Given the description of an element on the screen output the (x, y) to click on. 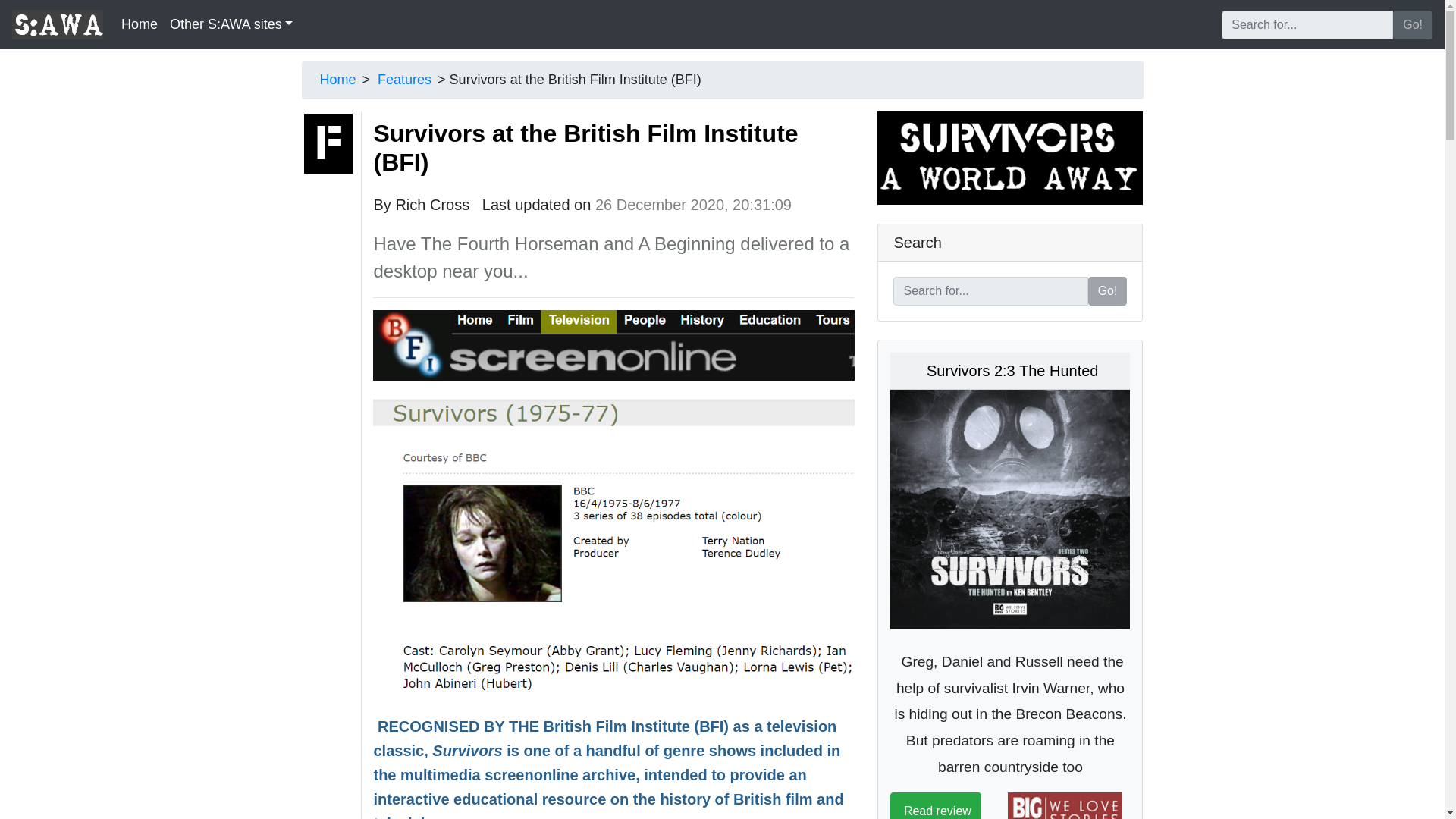
Go! (1412, 24)
Features (403, 79)
Go! (1106, 290)
Other S:AWA sites (230, 24)
Home (338, 79)
 Read review (934, 805)
Home (139, 24)
